Given the description of an element on the screen output the (x, y) to click on. 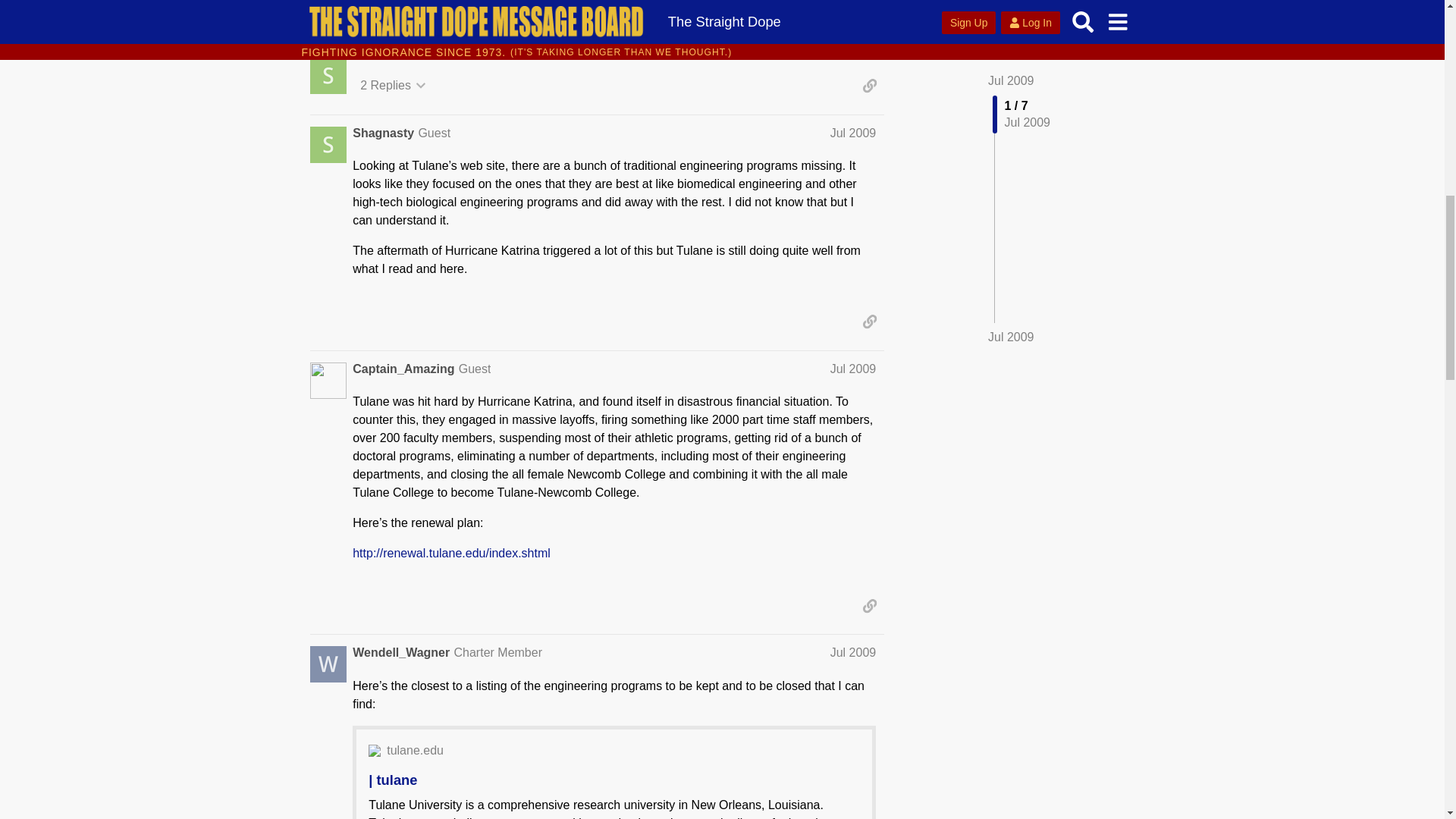
Shagnasty (382, 133)
2 Replies (392, 85)
